Given the description of an element on the screen output the (x, y) to click on. 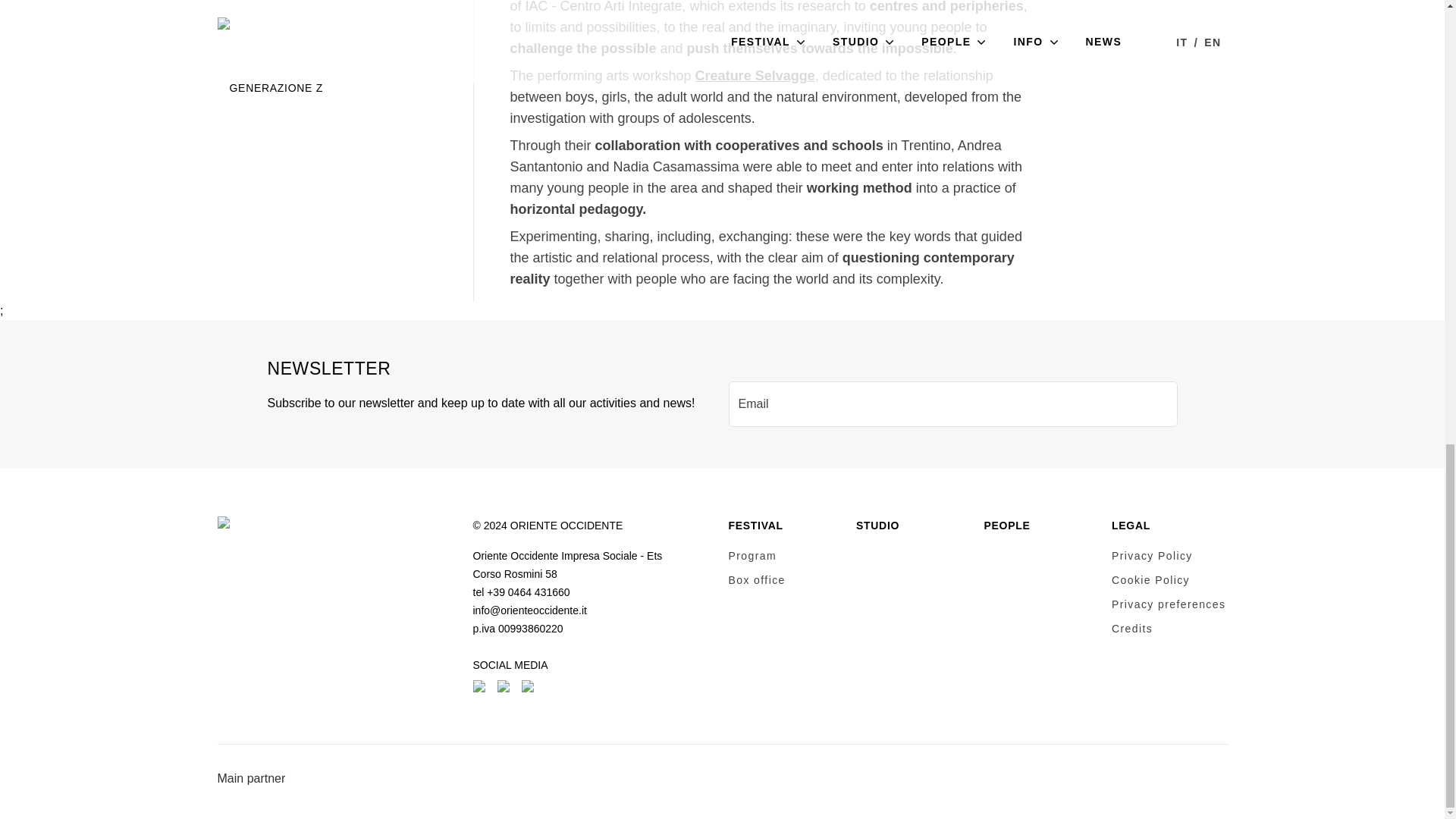
Privacy preferences (1168, 604)
Credits (1132, 628)
Facebook (480, 687)
Main partner (250, 778)
Privacy Policy (1152, 555)
Link to Main partner (250, 778)
Cookie Policy (1150, 580)
Link to Program (752, 555)
Twitter (529, 687)
Box office (756, 580)
